Given the description of an element on the screen output the (x, y) to click on. 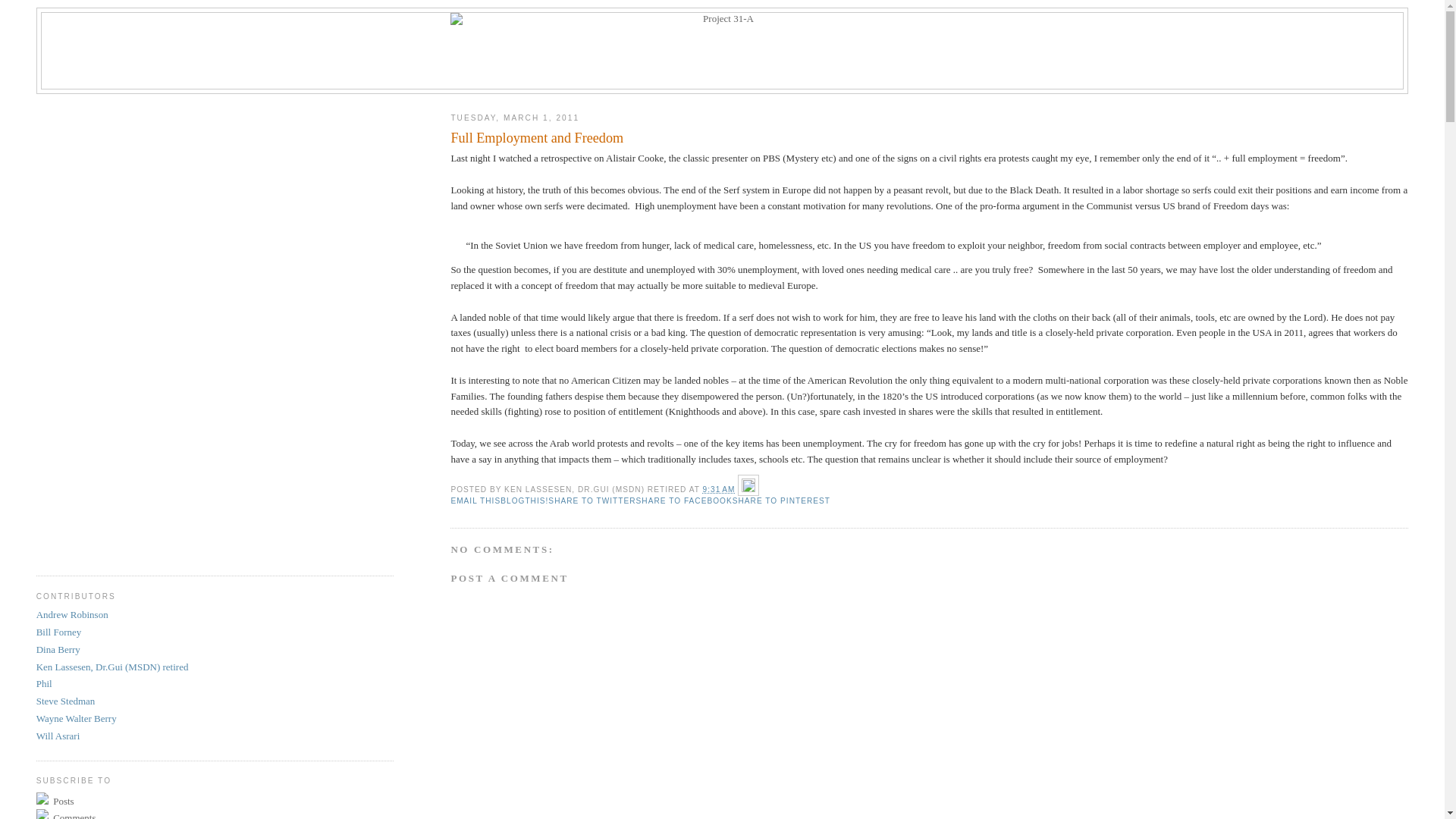
Posts Element type: text (214, 800)
SHARE TO TWITTER Element type: text (591, 500)
BLOGTHIS! Element type: text (524, 500)
Edit Post Element type: hover (748, 489)
Will Asrari Element type: text (58, 735)
EMAIL THIS Element type: text (475, 500)
Wayne Walter Berry Element type: text (76, 718)
Andrew Robinson Element type: text (72, 614)
Full Employment and Freedom Element type: text (929, 137)
Posts Element type: text (62, 800)
Ken Lassesen, Dr.Gui (MSDN) retired Element type: text (112, 666)
Phil Element type: text (44, 683)
SHARE TO PINTEREST Element type: text (781, 500)
Steve Stedman Element type: text (65, 700)
Bill Forney Element type: text (58, 631)
Advertisement Element type: hover (96, 328)
SHARE TO FACEBOOK Element type: text (684, 500)
Dina Berry Element type: text (58, 649)
